Given the description of an element on the screen output the (x, y) to click on. 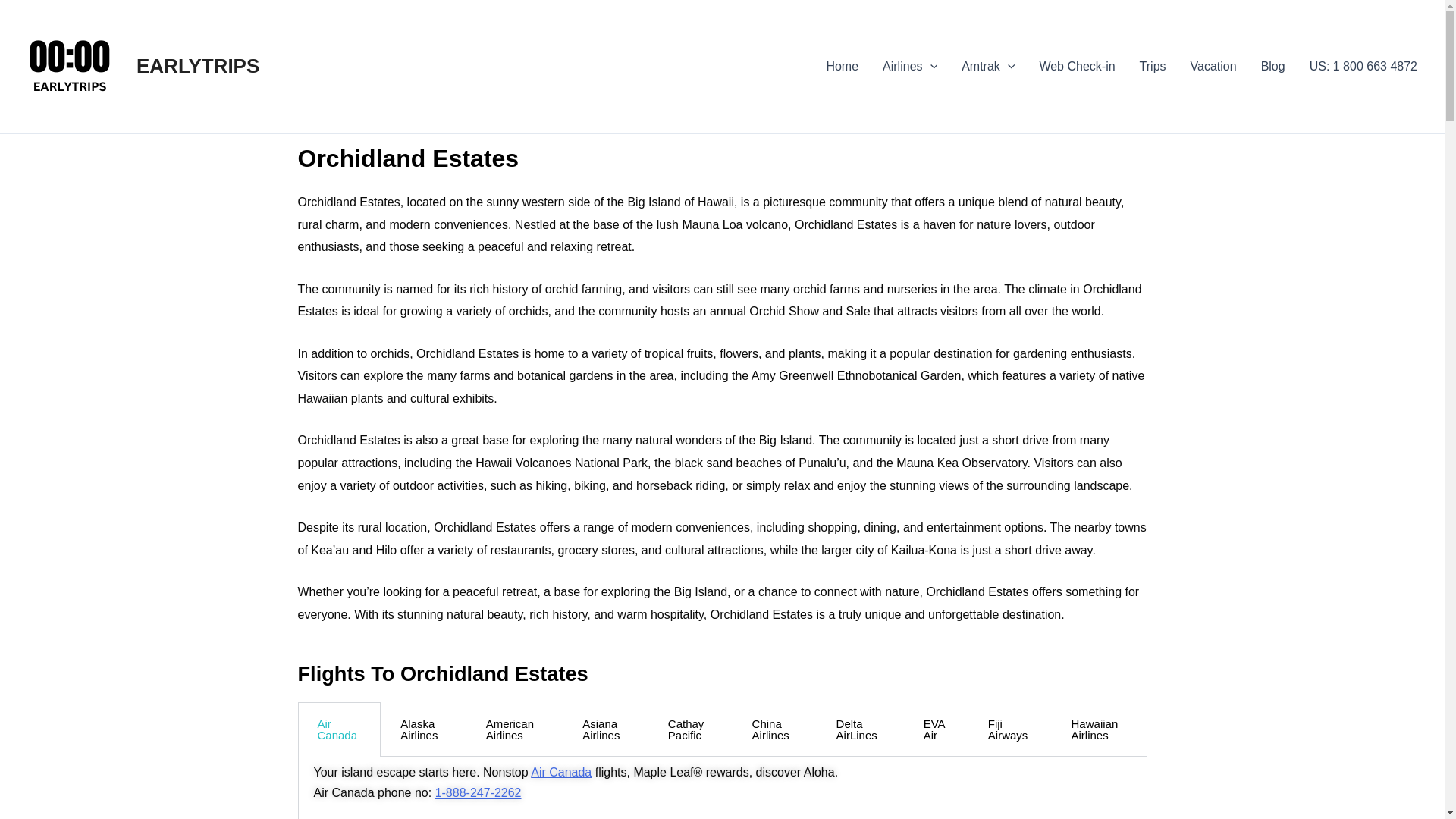
Home (841, 66)
Trips (1151, 66)
EARLYTRIPS (197, 65)
US: 1 800 663 4872 (1363, 66)
Vacation (1213, 66)
Blog (1273, 66)
Web Check-in (1076, 66)
Airlines (909, 66)
Amtrak (987, 66)
